Given the description of an element on the screen output the (x, y) to click on. 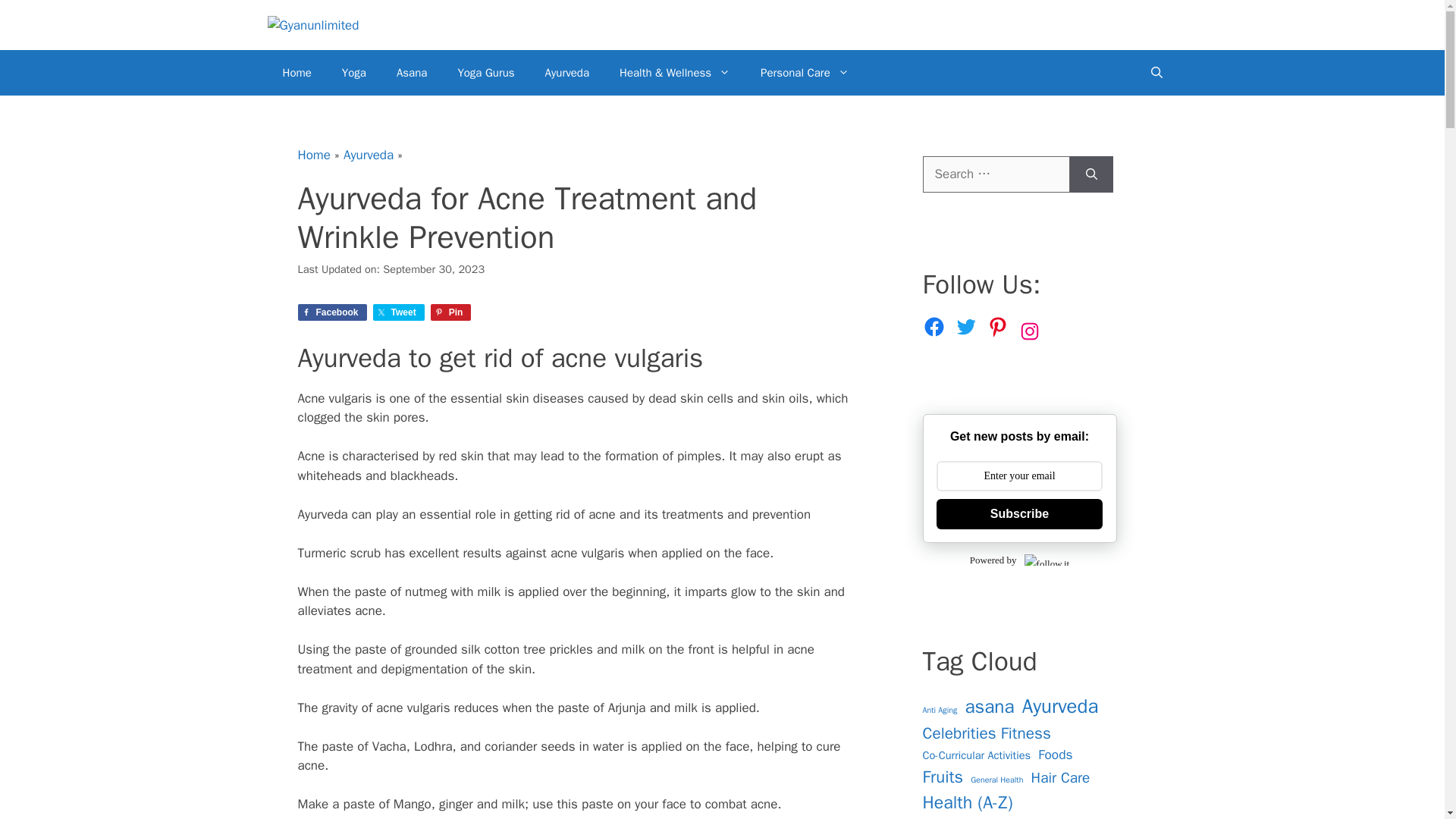
Facebook (331, 312)
Yoga Gurus (485, 72)
Home (313, 154)
Personal Care (804, 72)
Pin (450, 312)
Ayurveda (368, 154)
Search for: (994, 174)
Tweet (398, 312)
Ayurveda (566, 72)
Asana (411, 72)
Share on Twitter (398, 312)
Share on Facebook (331, 312)
Share on Pinterest (450, 312)
Home (296, 72)
Yoga (353, 72)
